Given the description of an element on the screen output the (x, y) to click on. 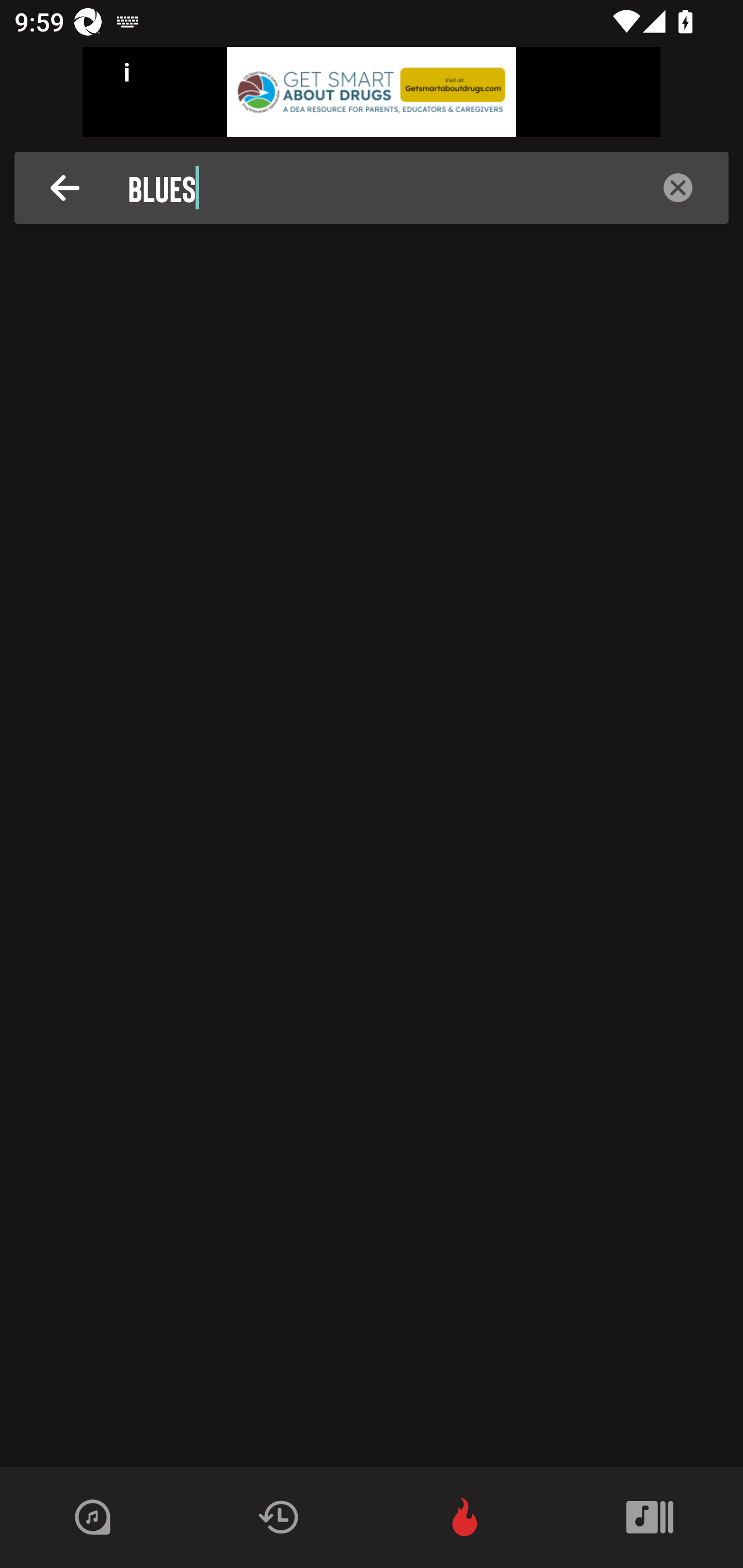
Blues (377, 188)
Description (64, 188)
Description (677, 188)
